Given the description of an element on the screen output the (x, y) to click on. 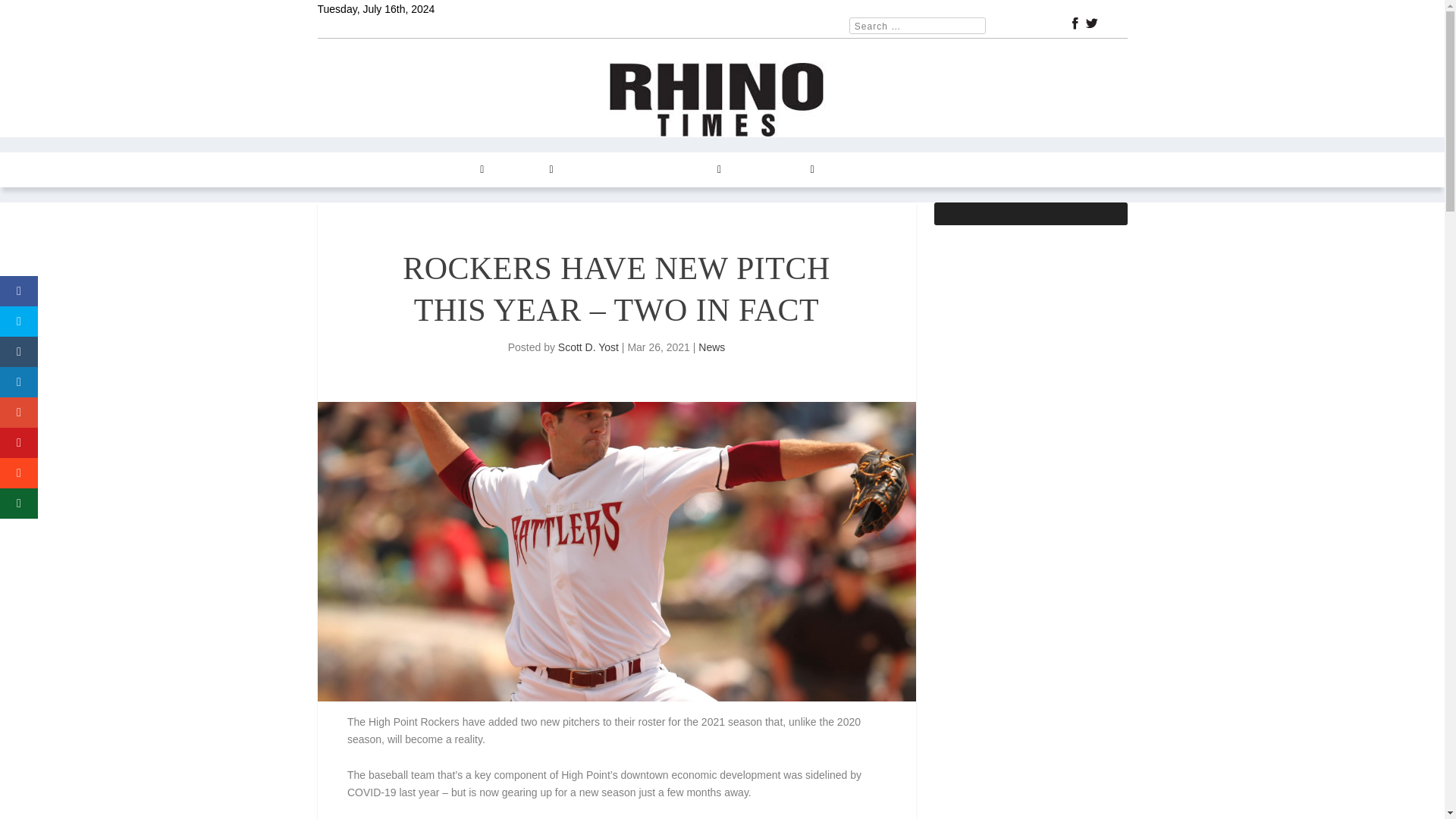
OPINION (526, 169)
Posts by Scott D. Yost (587, 346)
OBITUARIES (935, 169)
Search (31, 13)
ABOUT US (858, 169)
COLUMNS (453, 169)
ARCHIVES (689, 169)
NEWS (390, 169)
REAL ESTATE (606, 169)
HOME (342, 169)
CONTACT US (775, 169)
